Given the description of an element on the screen output the (x, y) to click on. 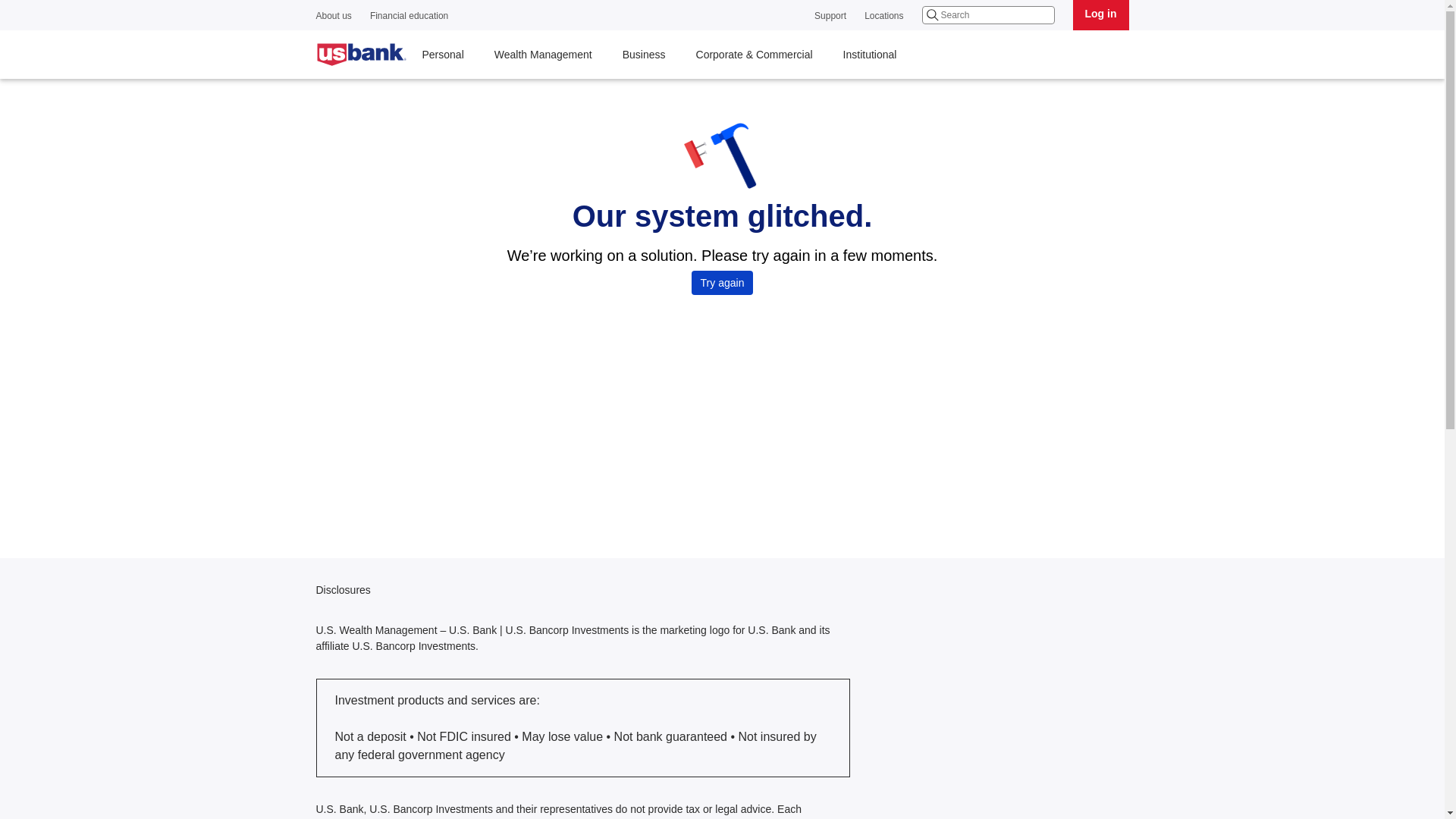
About us (332, 16)
Personal (442, 54)
Support (829, 16)
Search (932, 15)
search (987, 14)
Locations (883, 16)
Financial education (408, 16)
Log in (1099, 15)
